Given the description of an element on the screen output the (x, y) to click on. 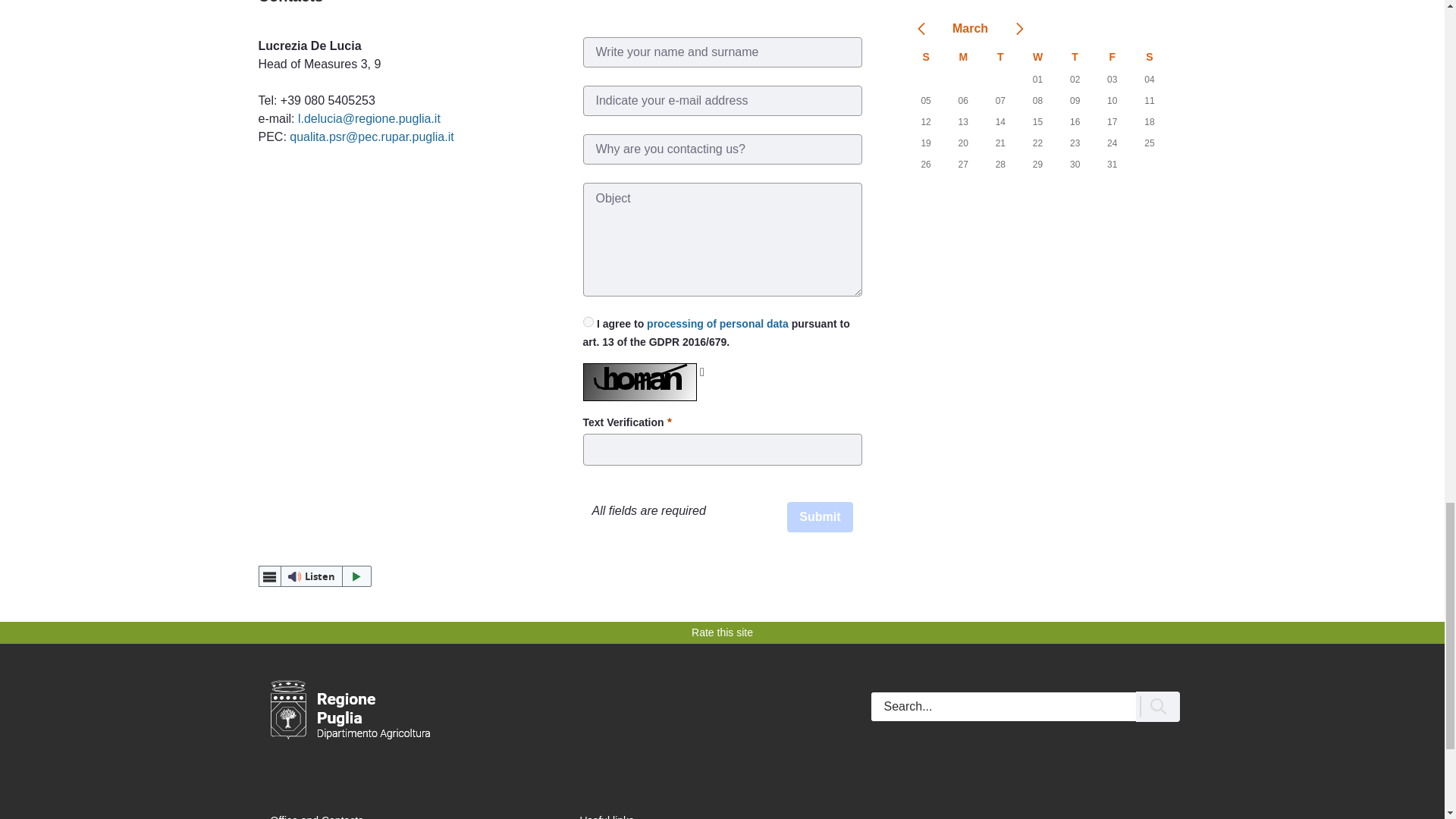
Mail (721, 100)
Name (721, 51)
Message (721, 239)
object (721, 149)
